Given the description of an element on the screen output the (x, y) to click on. 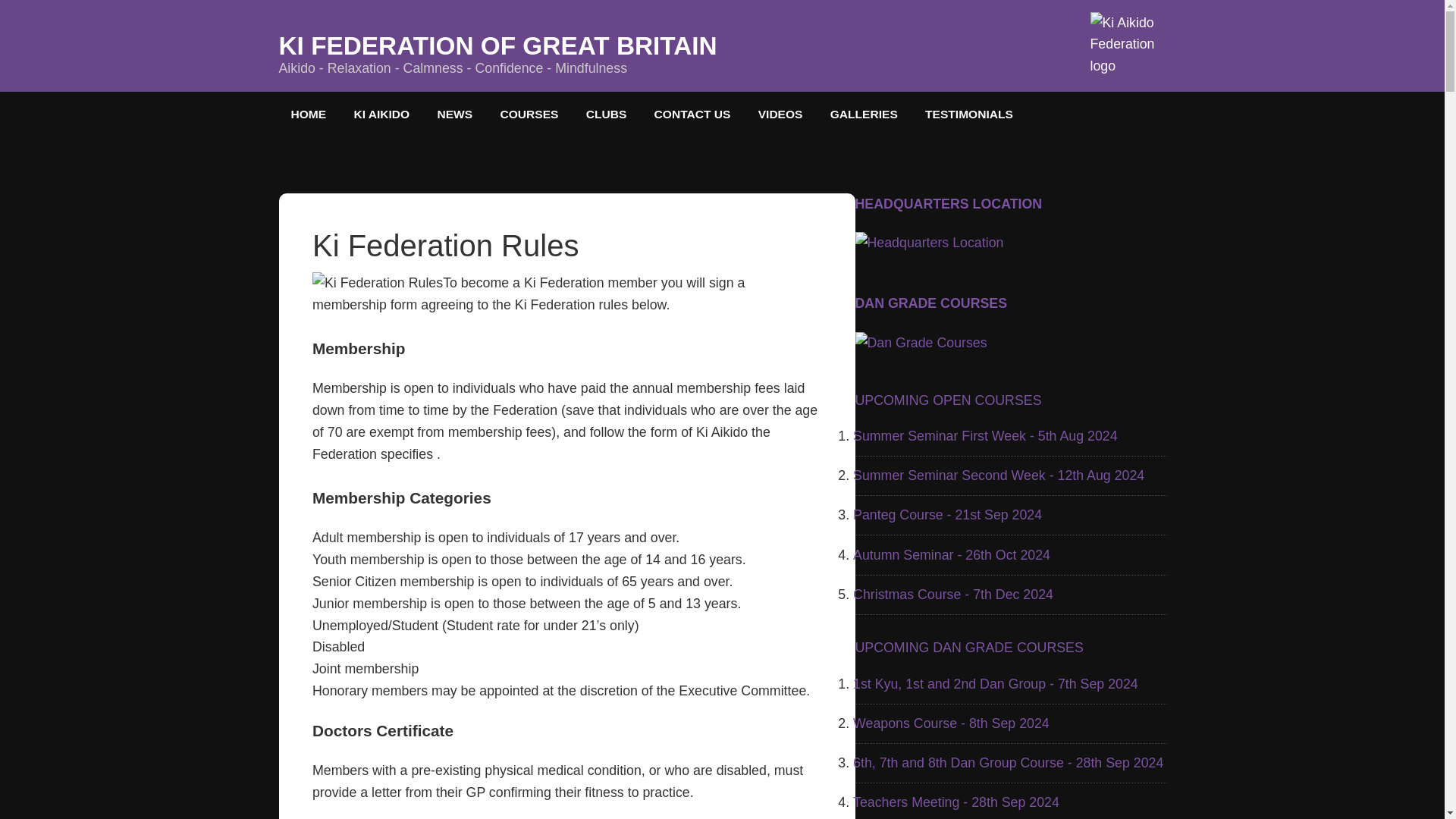
NEWS (454, 113)
HOME (309, 113)
Autumn Seminar - 26th Oct 2024 (951, 554)
GALLERIES (864, 113)
Summer Seminar Second Week - 12th Aug 2024 (998, 475)
TESTIMONIALS (968, 113)
Panteg Course - 21st Sep 2024 (947, 514)
UPCOMING OPEN COURSES (949, 400)
KI FEDERATION OF GREAT BRITAIN (498, 45)
CONTACT US (692, 113)
COURSES (528, 113)
KI AIKIDO (381, 113)
CLUBS (606, 113)
Summer Seminar First Week - 5th Aug 2024 (985, 435)
VIDEOS (780, 113)
